Given the description of an element on the screen output the (x, y) to click on. 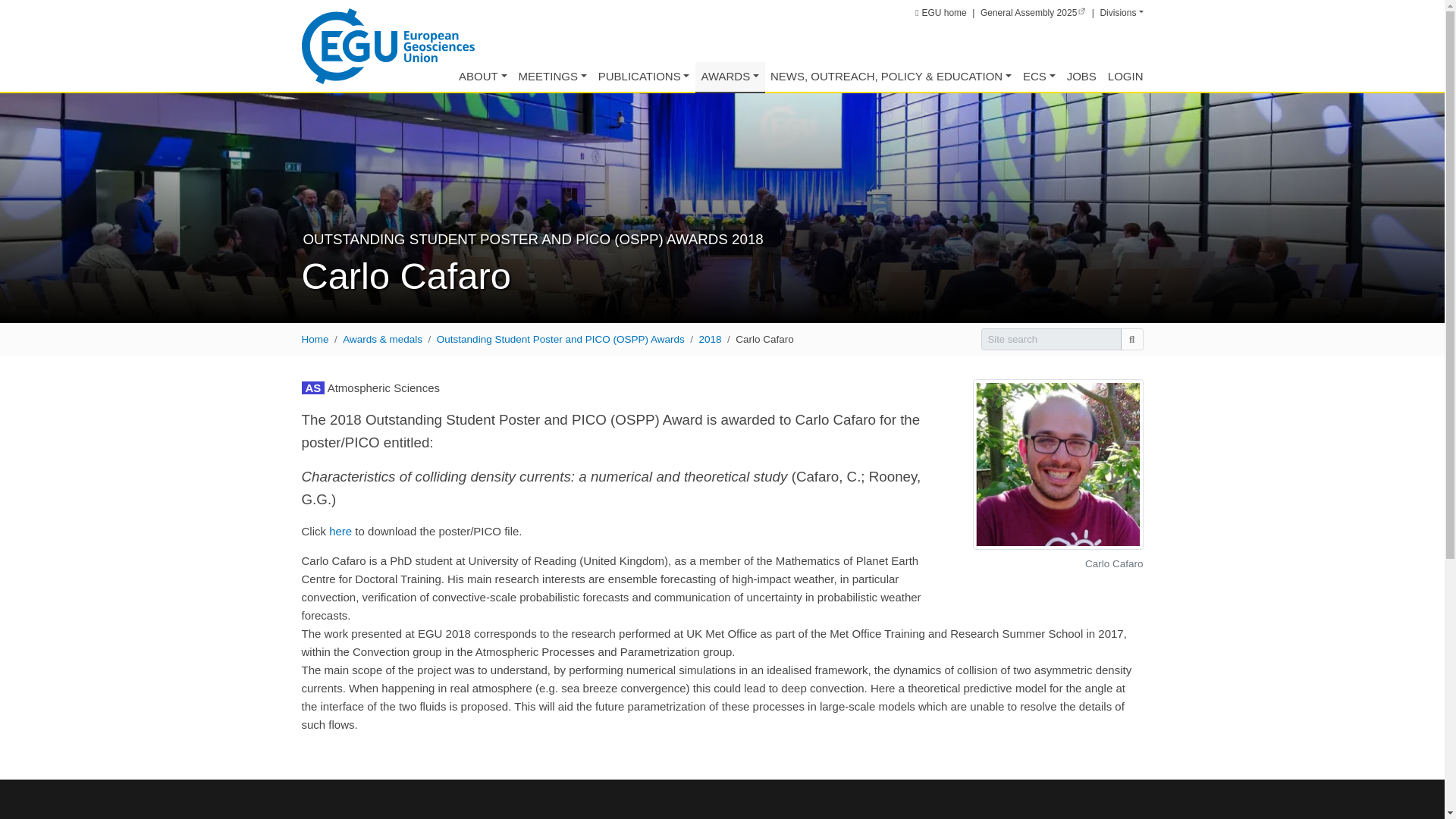
ABOUT (482, 77)
EGU home (940, 12)
Home (940, 12)
Home (387, 44)
Divisions (1120, 12)
General Assembly 2025 (1032, 12)
